Given the description of an element on the screen output the (x, y) to click on. 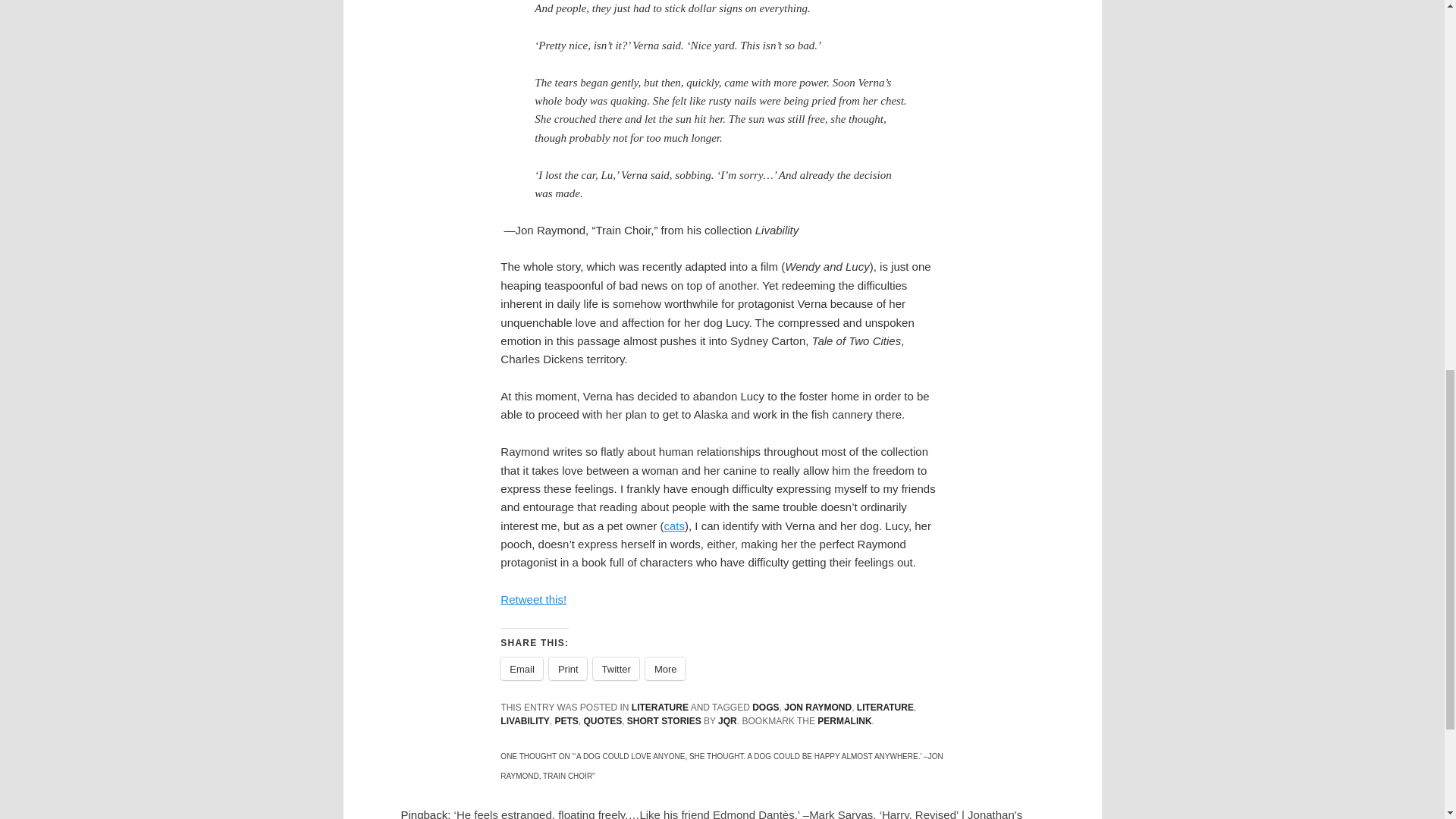
cats (673, 525)
PERMALINK (843, 720)
JQR (726, 720)
QUOTES (603, 720)
DOGS (765, 706)
SHORT STORIES (664, 720)
PETS (566, 720)
JON RAYMOND (817, 706)
Print (567, 668)
Click to email a link to a friend (521, 668)
